Given the description of an element on the screen output the (x, y) to click on. 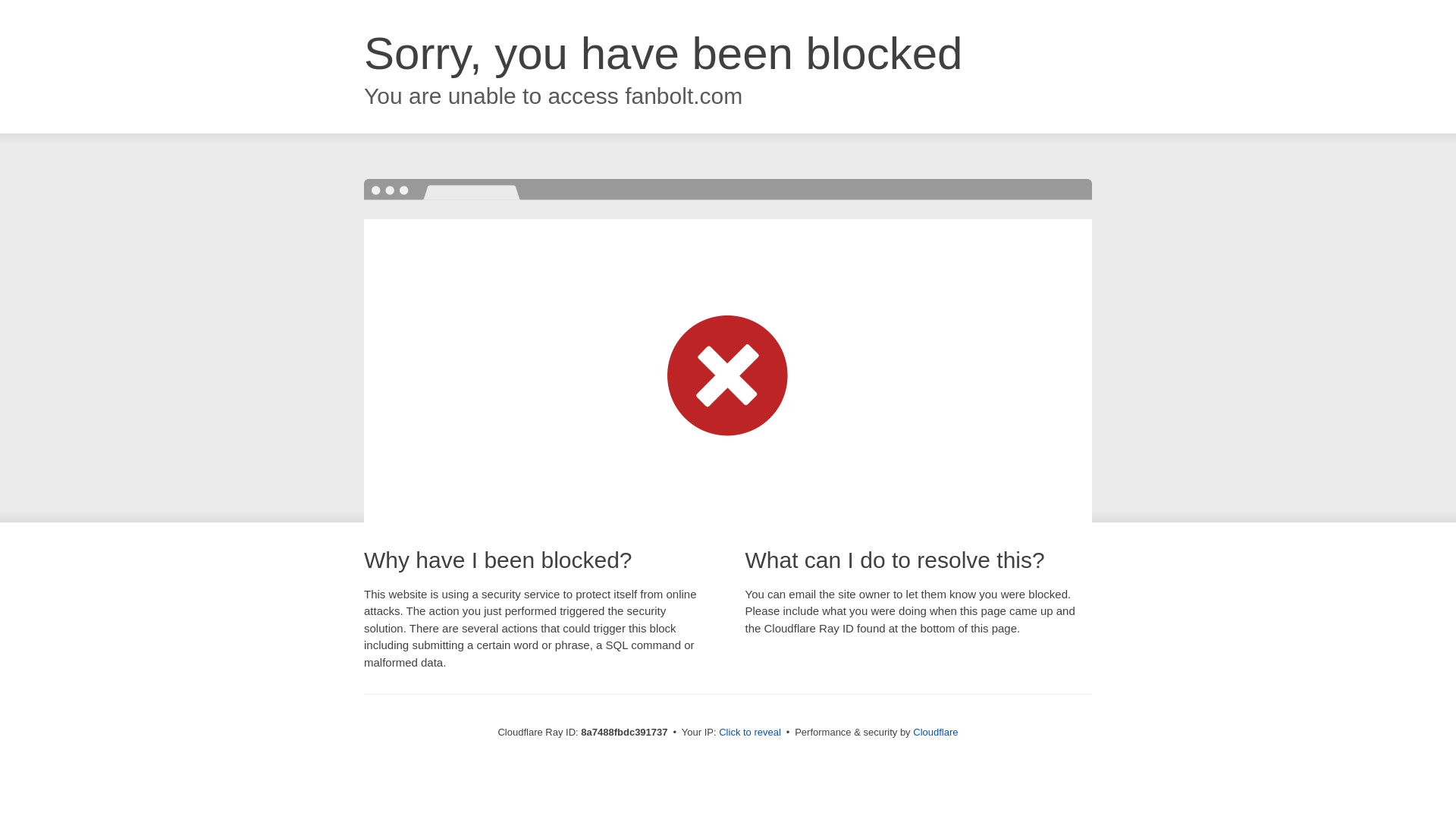
Cloudflare (935, 731)
Click to reveal (749, 732)
